Given the description of an element on the screen output the (x, y) to click on. 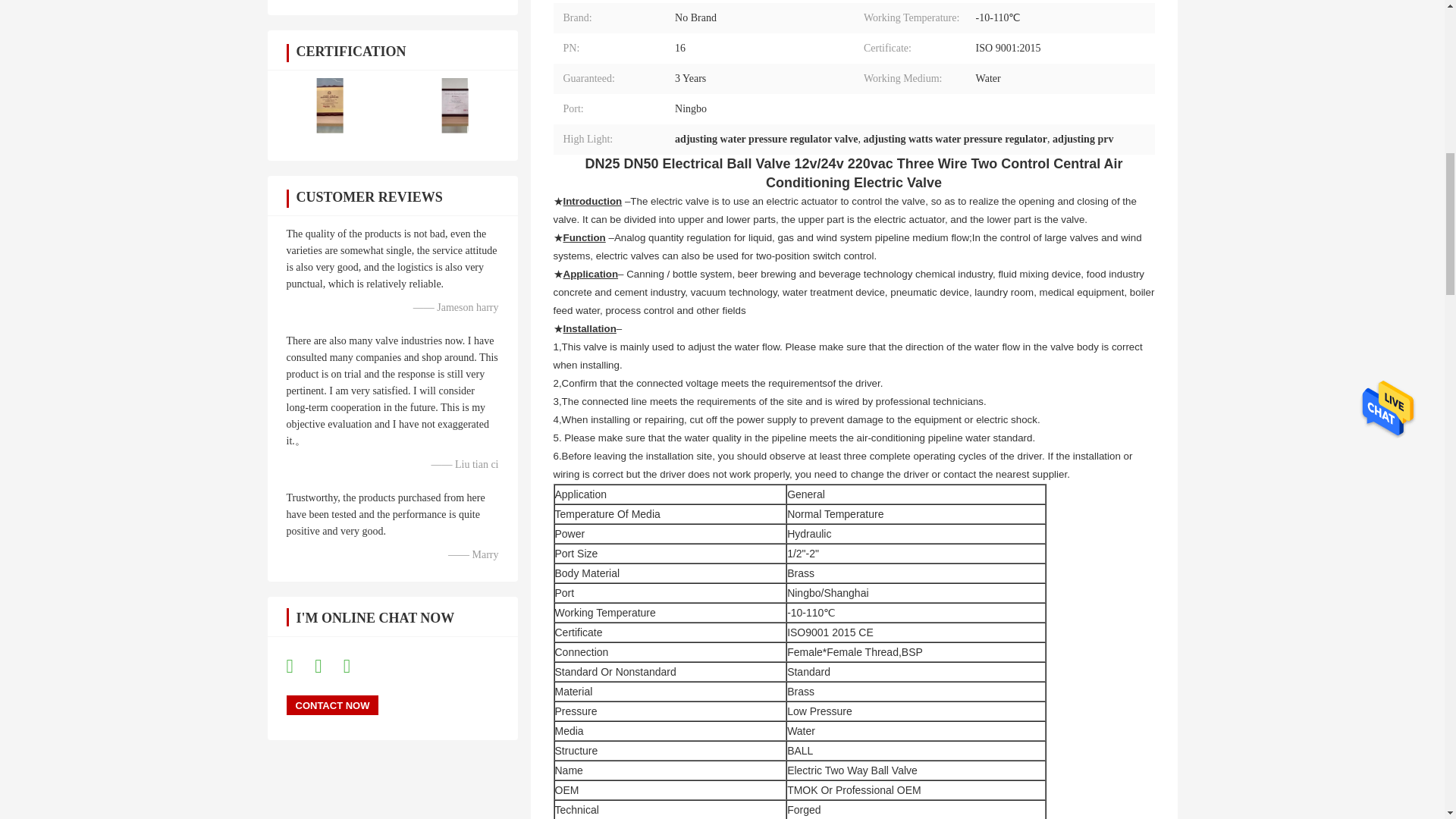
Contact Now (332, 704)
